Given the description of an element on the screen output the (x, y) to click on. 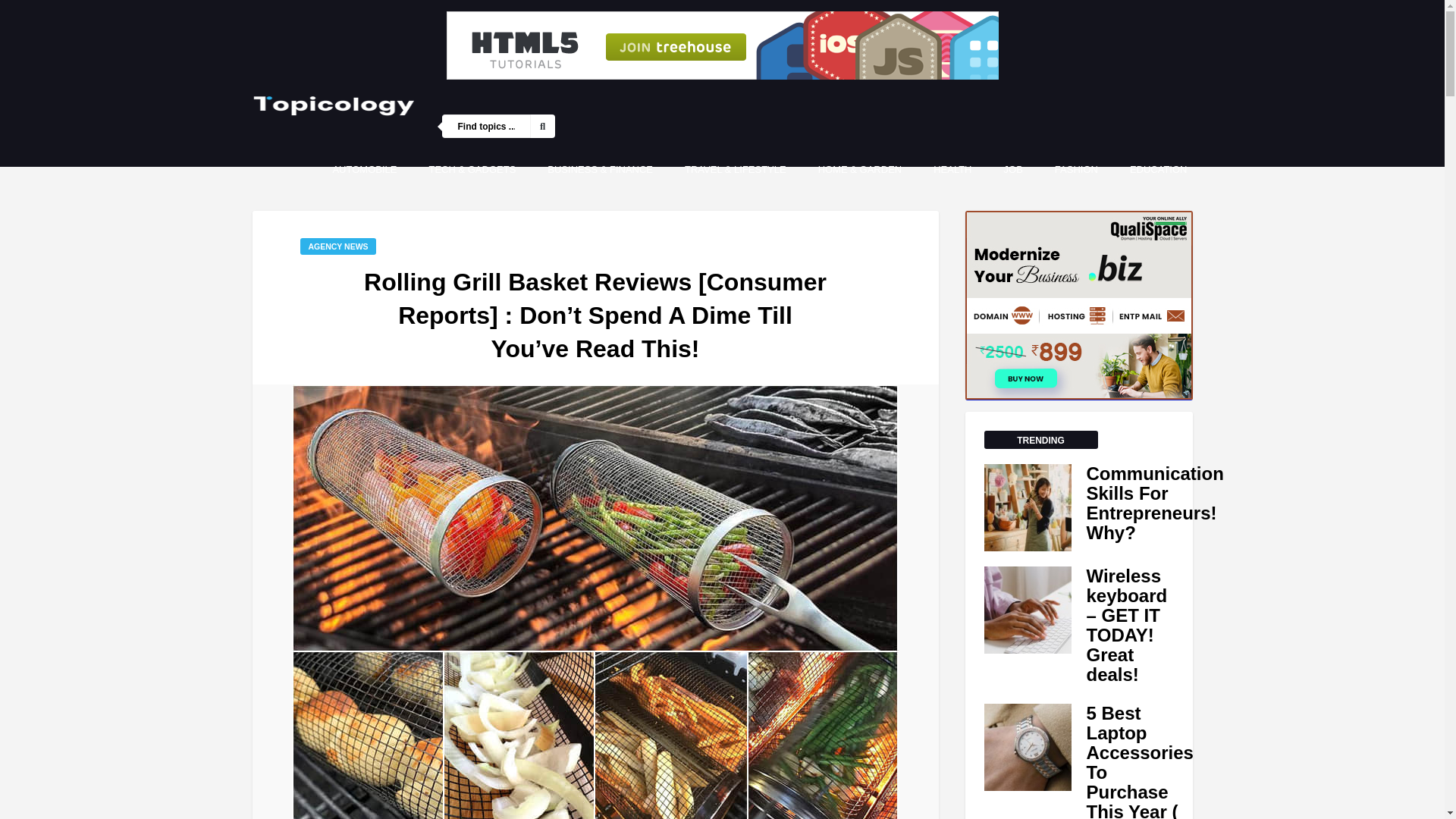
HEALTH (951, 169)
FASHION (1076, 169)
JOB (1012, 169)
EDUCATION (1158, 169)
AUTOMOBILE (363, 169)
AGENCY NEWS (337, 246)
